Given the description of an element on the screen output the (x, y) to click on. 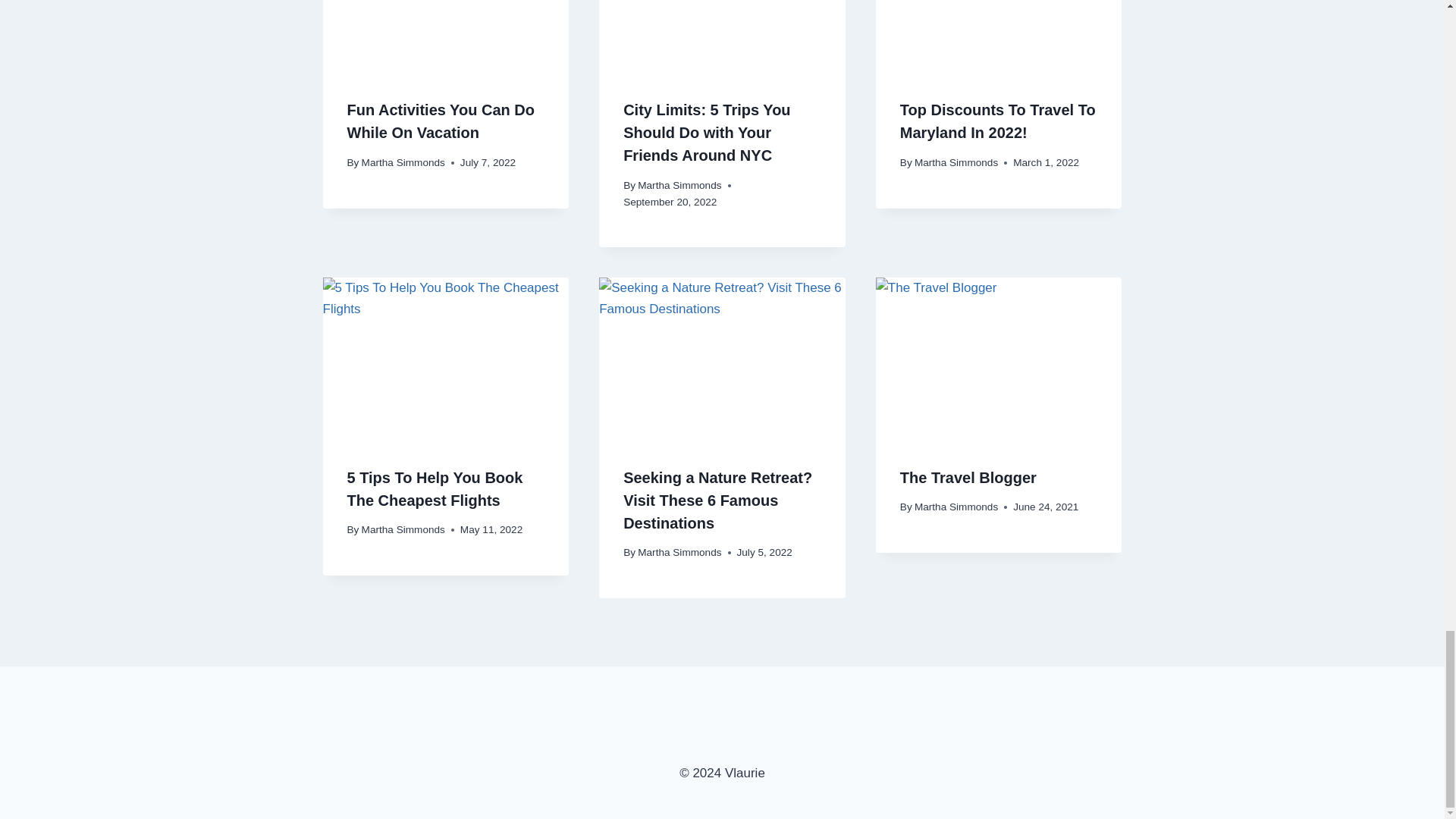
Martha Simmonds (678, 552)
Martha Simmonds (403, 529)
Martha Simmonds (403, 162)
Martha Simmonds (955, 162)
5 Tips To Help You Book The Cheapest Flights (434, 488)
Top Discounts To Travel To Maryland In 2022! (997, 120)
Martha Simmonds (678, 184)
Seeking a Nature Retreat? Visit These 6 Famous Destinations (717, 500)
Fun Activities You Can Do While On Vacation (440, 120)
